Given the description of an element on the screen output the (x, y) to click on. 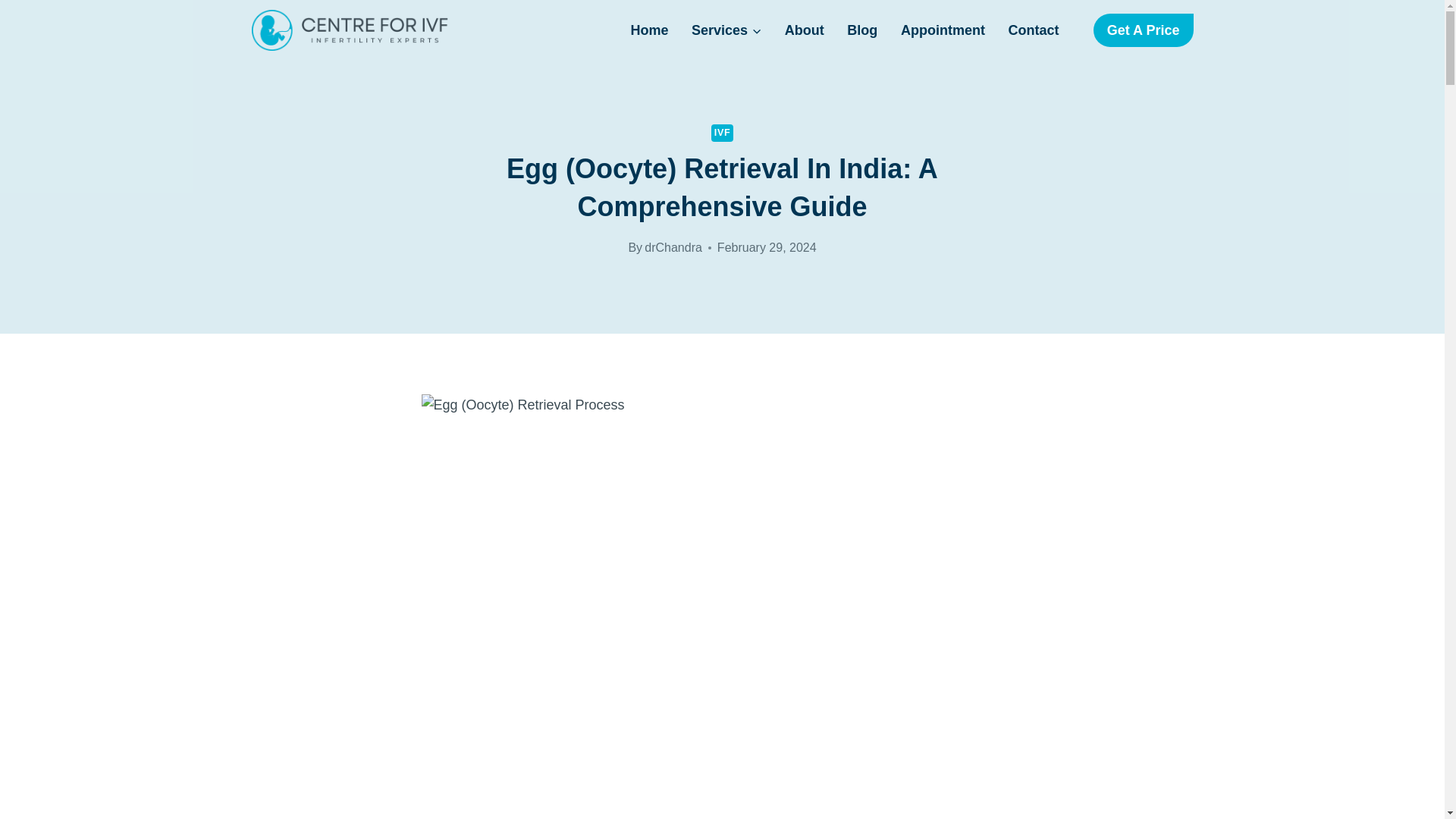
Services (726, 30)
IVF (722, 132)
Get A Price (1143, 29)
Home (648, 30)
Blog (862, 30)
Appointment (943, 30)
About (804, 30)
drChandra (673, 246)
Contact (1032, 30)
